Given the description of an element on the screen output the (x, y) to click on. 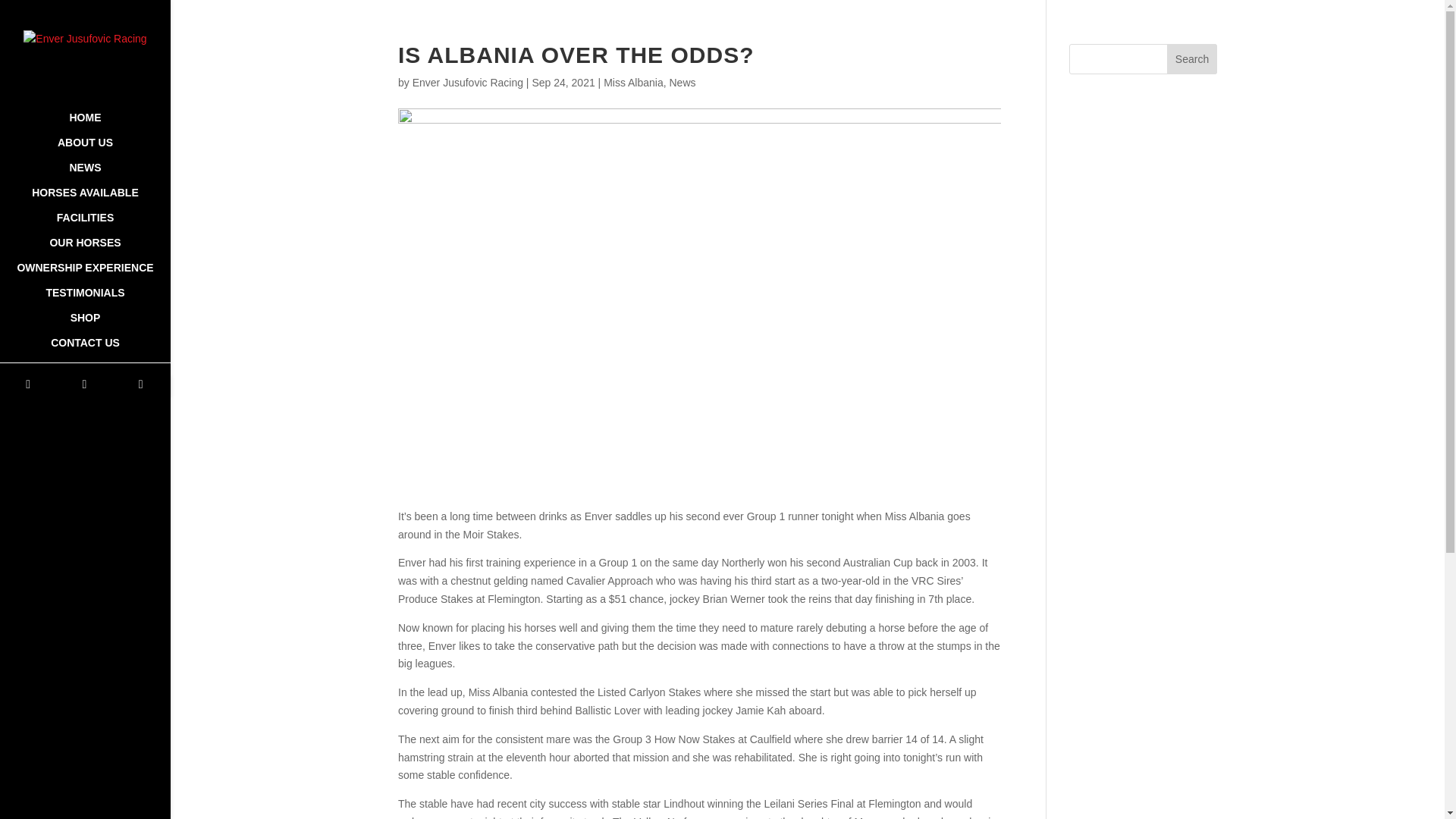
OWNERSHIP EXPERIENCE (85, 274)
SOCIAL (85, 367)
News (681, 82)
Posts by Enver Jusufovic Racing (467, 82)
HOME (85, 124)
OUR HORSES (85, 249)
CONTACT US (85, 349)
TWITTER (84, 384)
FACILITIES (85, 224)
NEWS (85, 174)
Enver Jusufovic Racing (467, 82)
SHOP (85, 324)
Miss Albania (633, 82)
HORSES AVAILABLE (85, 199)
TESTIMONIALS (85, 299)
